Given the description of an element on the screen output the (x, y) to click on. 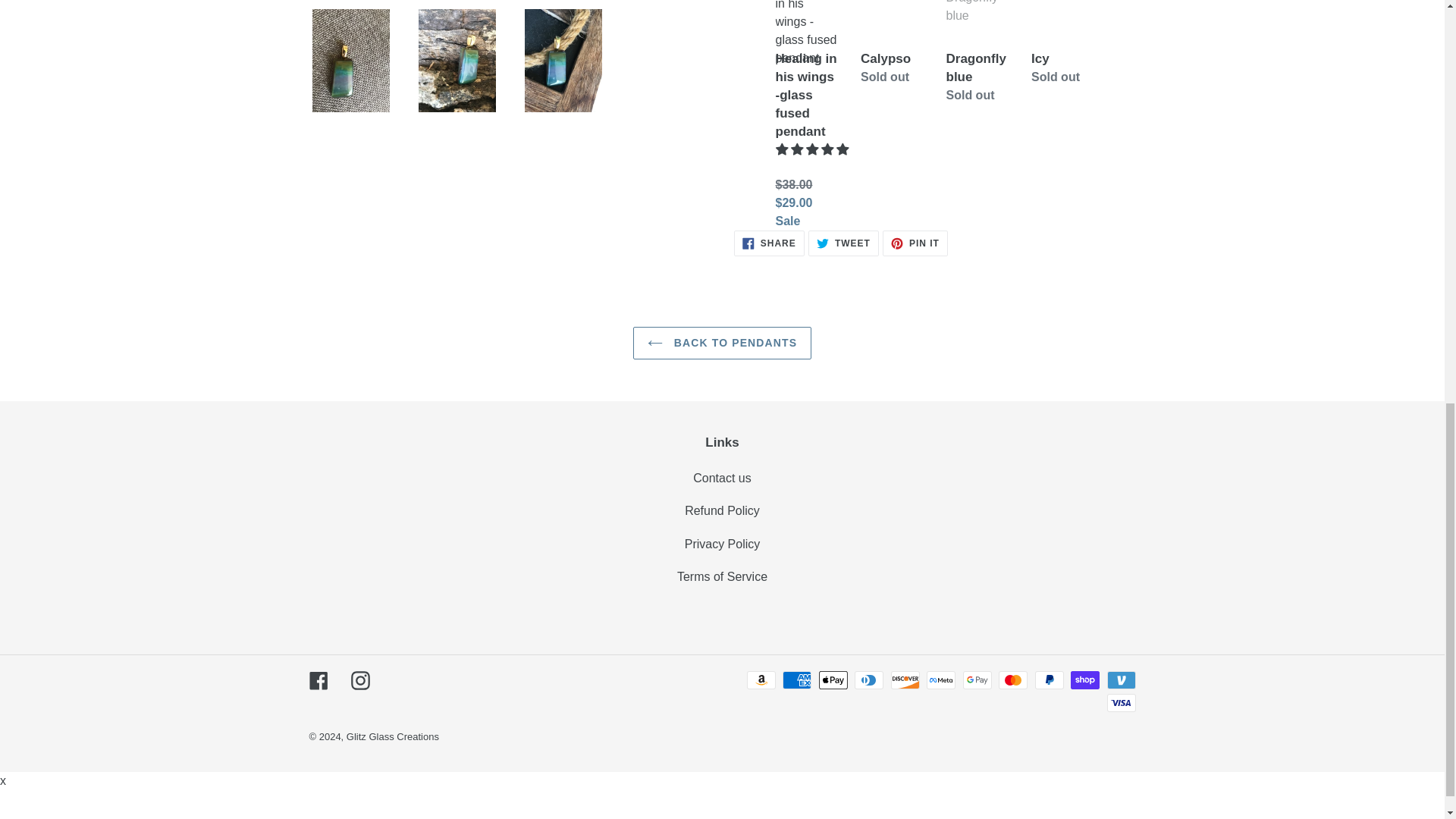
Privacy Policy (843, 243)
Returns and Refund Policy (722, 543)
Contact (914, 243)
Terms of Service (722, 510)
